Given the description of an element on the screen output the (x, y) to click on. 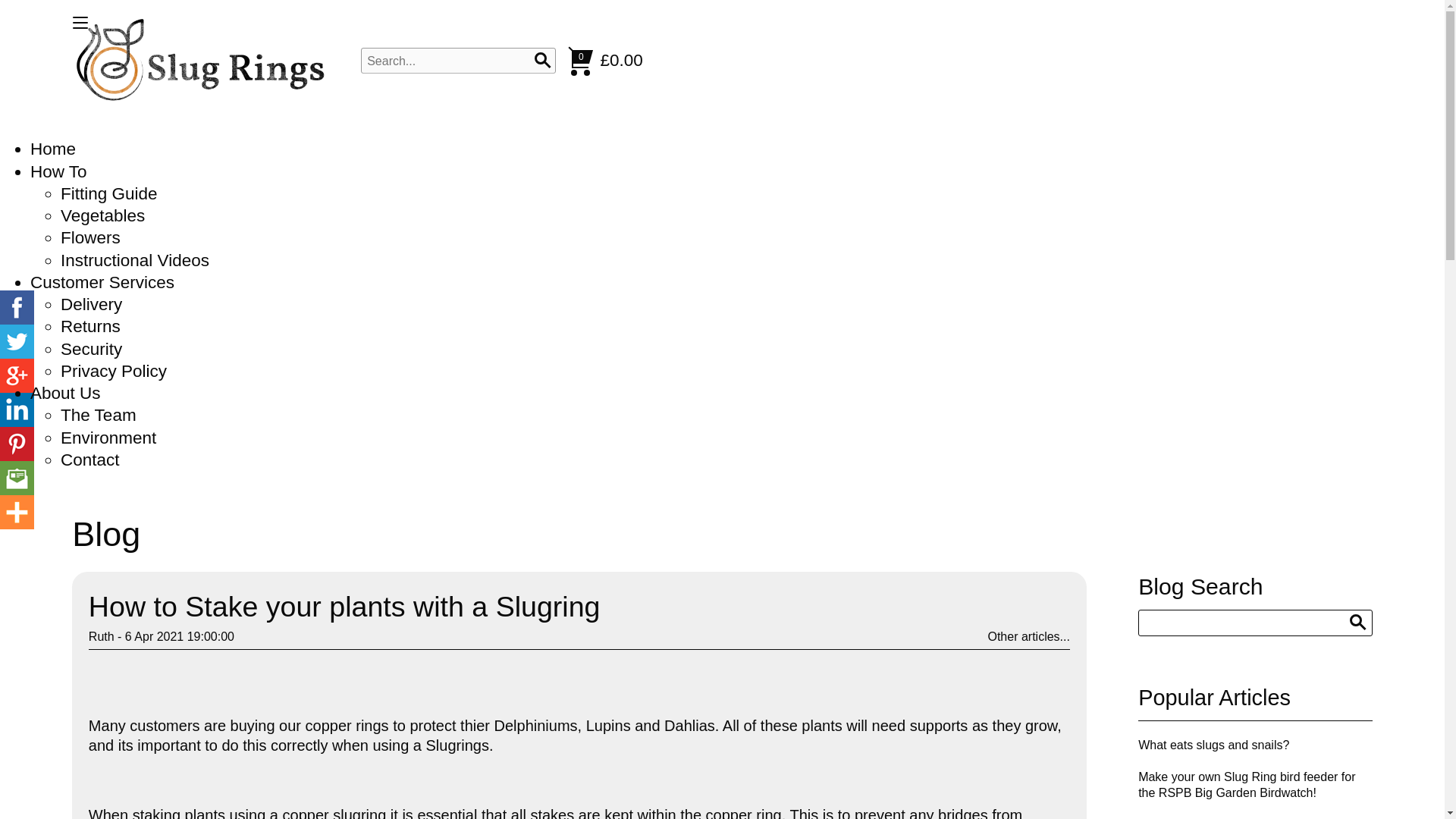
Fitting Guide (109, 193)
Contact (90, 459)
Customer Services (102, 281)
Home (52, 148)
How To (58, 171)
Security (91, 348)
The Team (98, 415)
Other articles... (1027, 635)
Vegetables (102, 215)
Instructional Videos (135, 260)
Flowers (90, 237)
Returns (90, 325)
About Us (65, 393)
What eats slugs and snails? (1213, 744)
Delivery (91, 303)
